Given the description of an element on the screen output the (x, y) to click on. 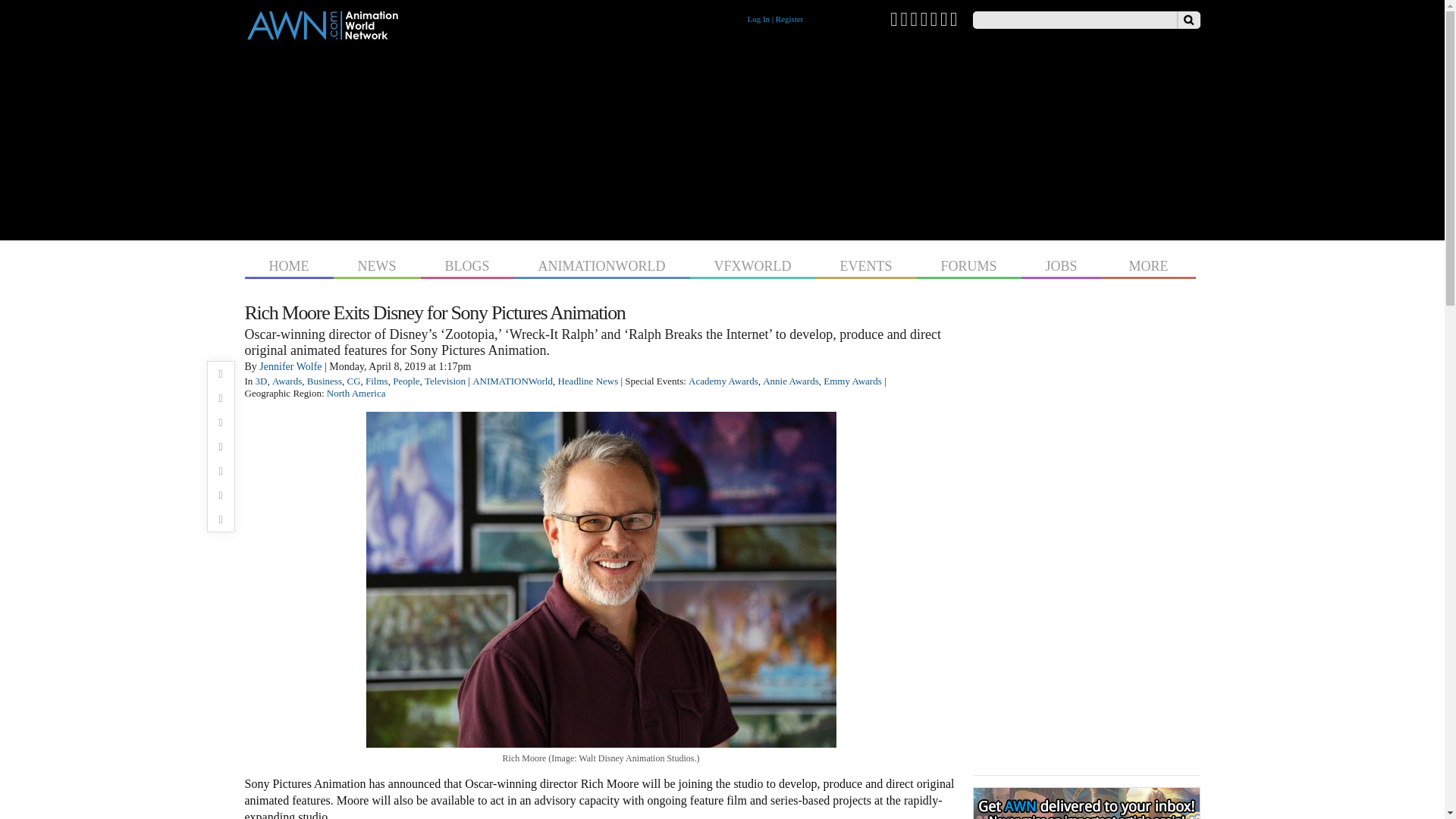
VFXWORLD (752, 263)
Awards (286, 380)
Jennifer Wolfe (290, 366)
MORE (1148, 263)
Animation World Network (321, 35)
People (406, 380)
HOME (288, 263)
3D (261, 380)
CG (352, 380)
Business (324, 380)
